Given the description of an element on the screen output the (x, y) to click on. 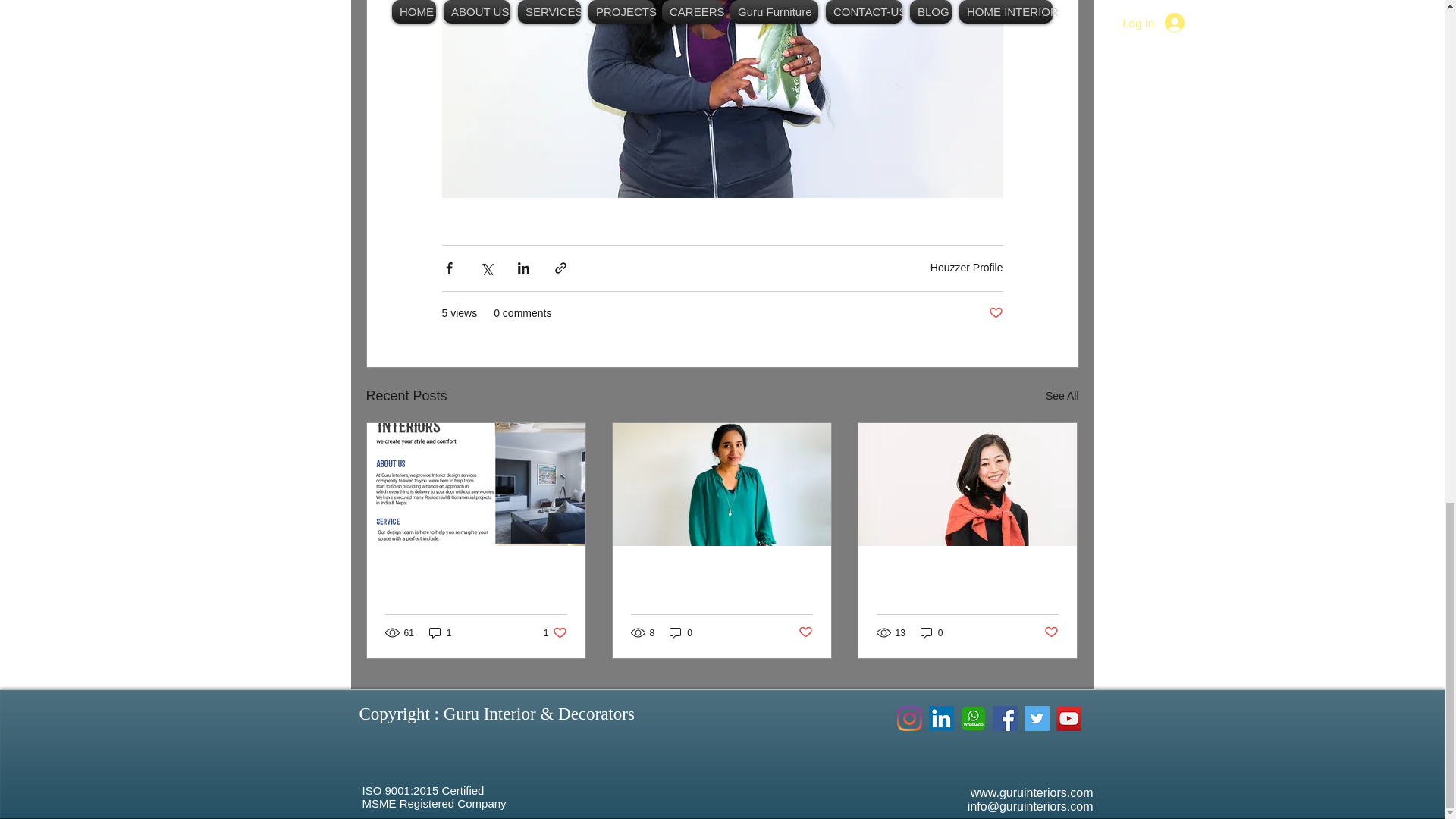
Houzzer Profile: Aiko Katoh, Houzz Asia (967, 580)
Houzzer Profile (966, 267)
Houzzer Profile: Deepa Ramachandran (721, 580)
Post not marked as liked (555, 632)
1 (804, 632)
See All (440, 632)
Post not marked as liked (1061, 395)
Residential Interior Design (995, 313)
0 (476, 571)
